Given the description of an element on the screen output the (x, y) to click on. 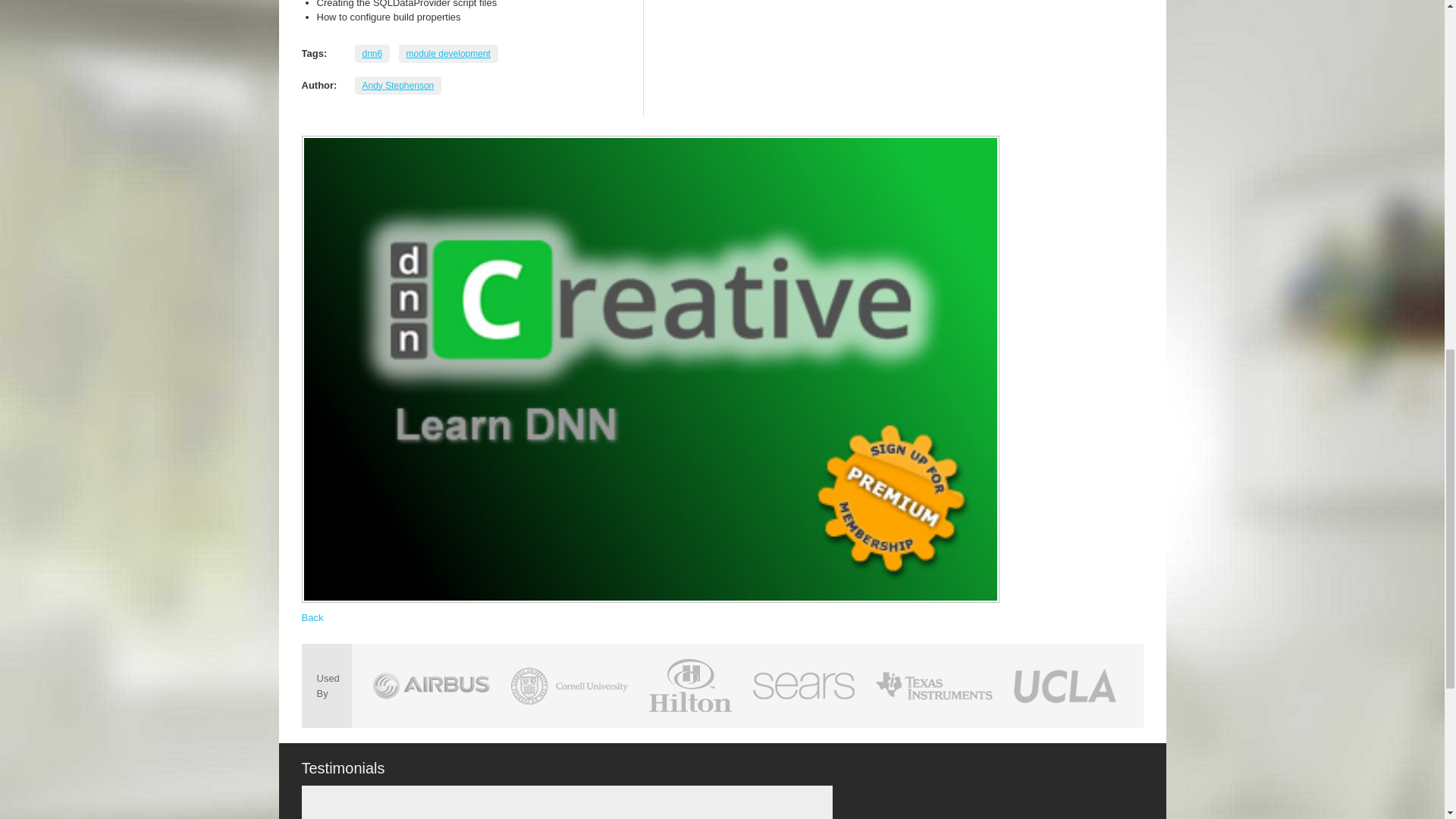
dnn6 (372, 53)
module development (447, 53)
Andy Stephenson (398, 85)
